Given the description of an element on the screen output the (x, y) to click on. 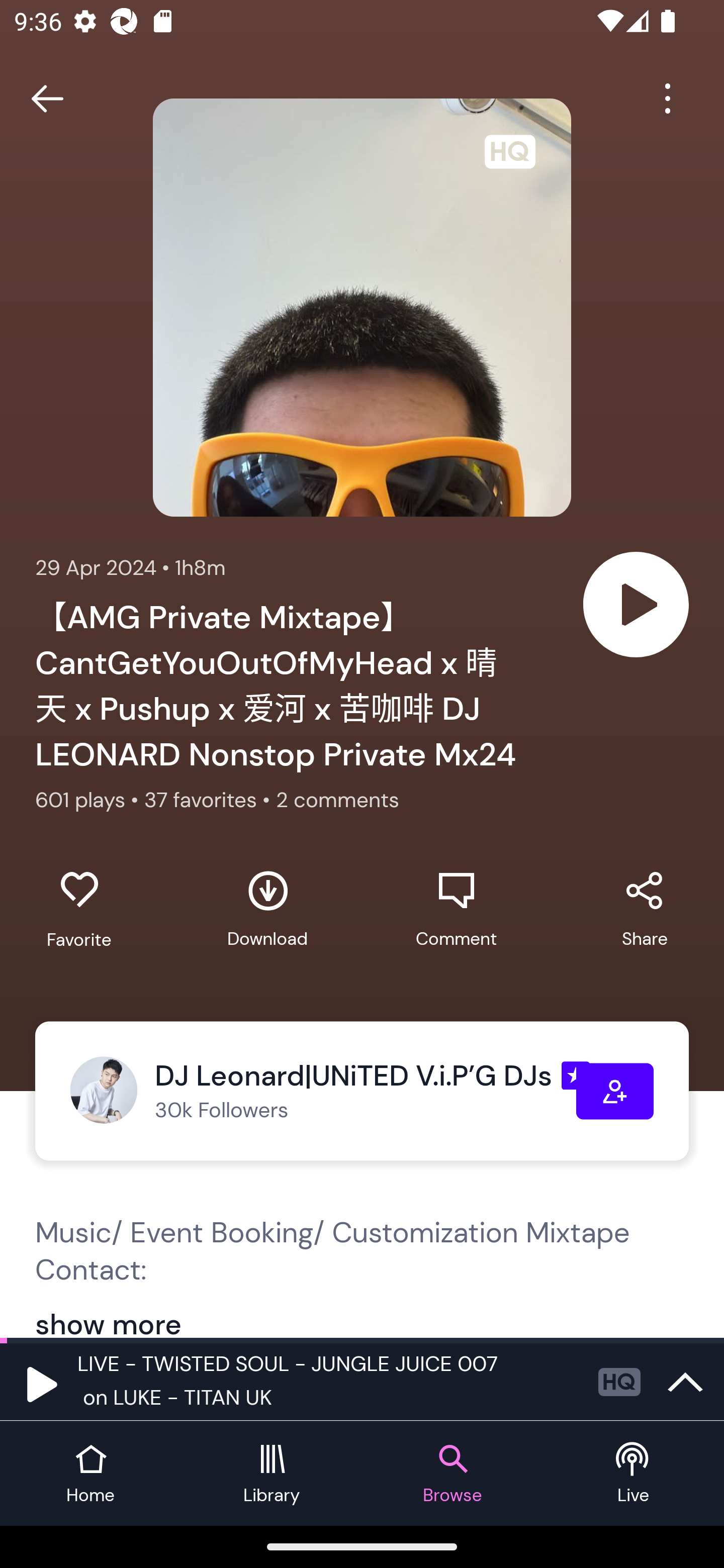
37 favorites •  (209, 799)
2 comments (336, 799)
Favorite (79, 909)
Download (267, 909)
Comment (455, 909)
Share (644, 909)
Follow (614, 1091)
Home tab Home (90, 1473)
Library tab Library (271, 1473)
Browse tab Browse (452, 1473)
Live tab Live (633, 1473)
